Given the description of an element on the screen output the (x, y) to click on. 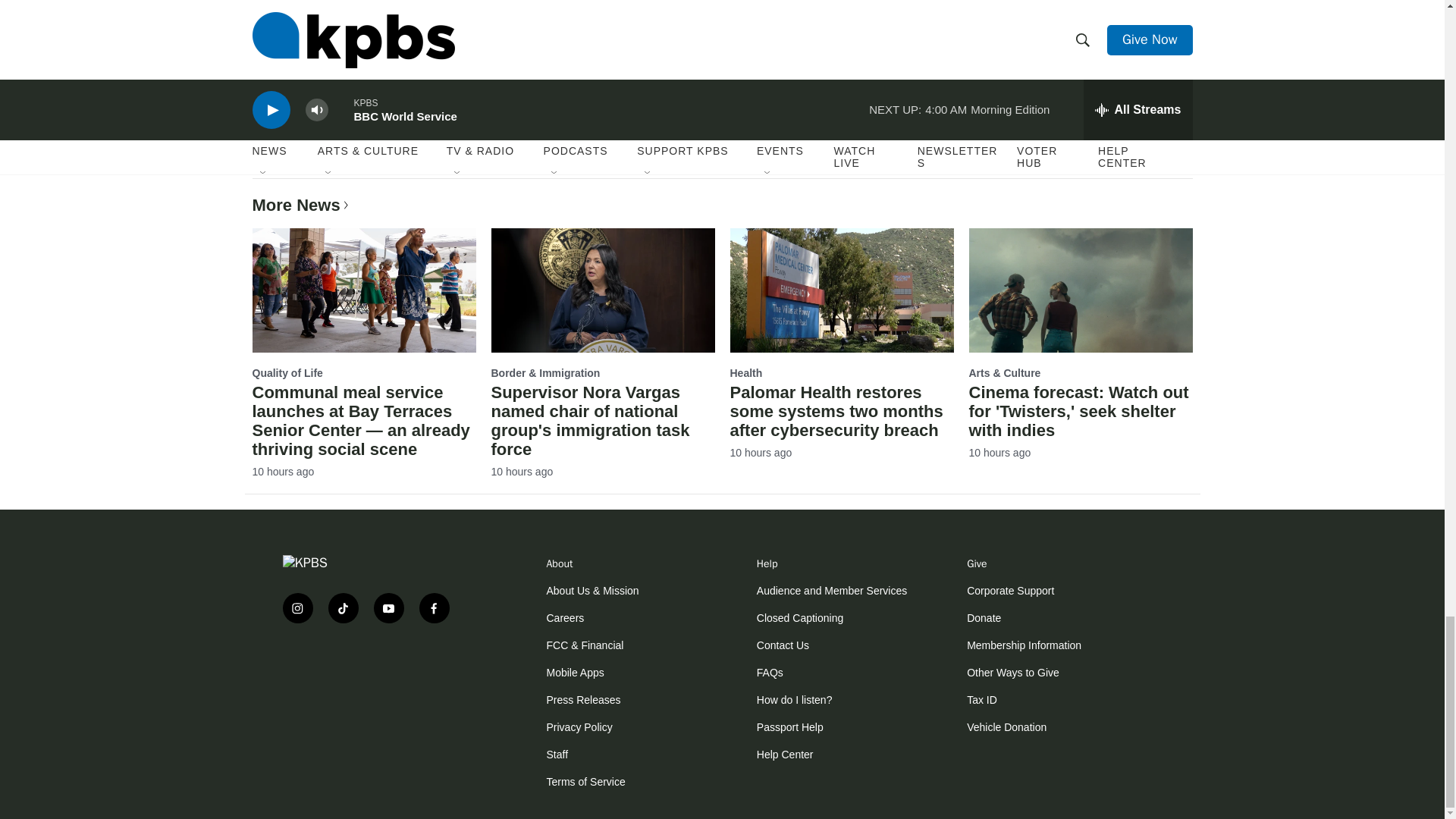
3rd party ad content (373, 683)
